Given the description of an element on the screen output the (x, y) to click on. 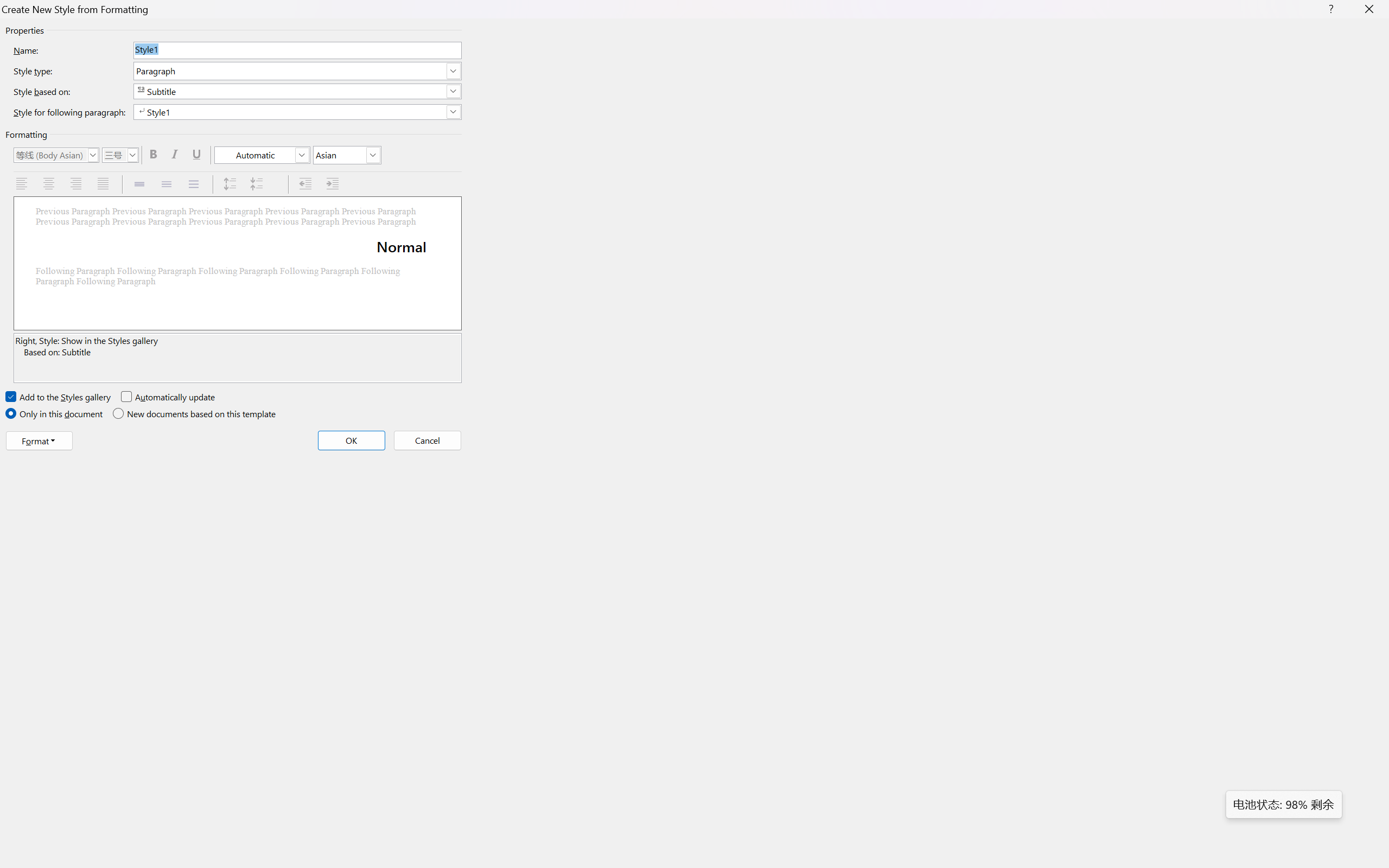
New documents based on this template (194, 413)
Increase Paragraph Spacing (231, 183)
Only in this document (54, 413)
Format (39, 440)
Automatically update (168, 396)
Style for following paragraph: (297, 111)
Style properties: (237, 357)
Bold (154, 154)
Add to the Styles gallery (58, 396)
Cancel (427, 440)
Decrease Indent (306, 183)
Font Color (Automatic) (261, 155)
Style based on: (297, 90)
